Given the description of an element on the screen output the (x, y) to click on. 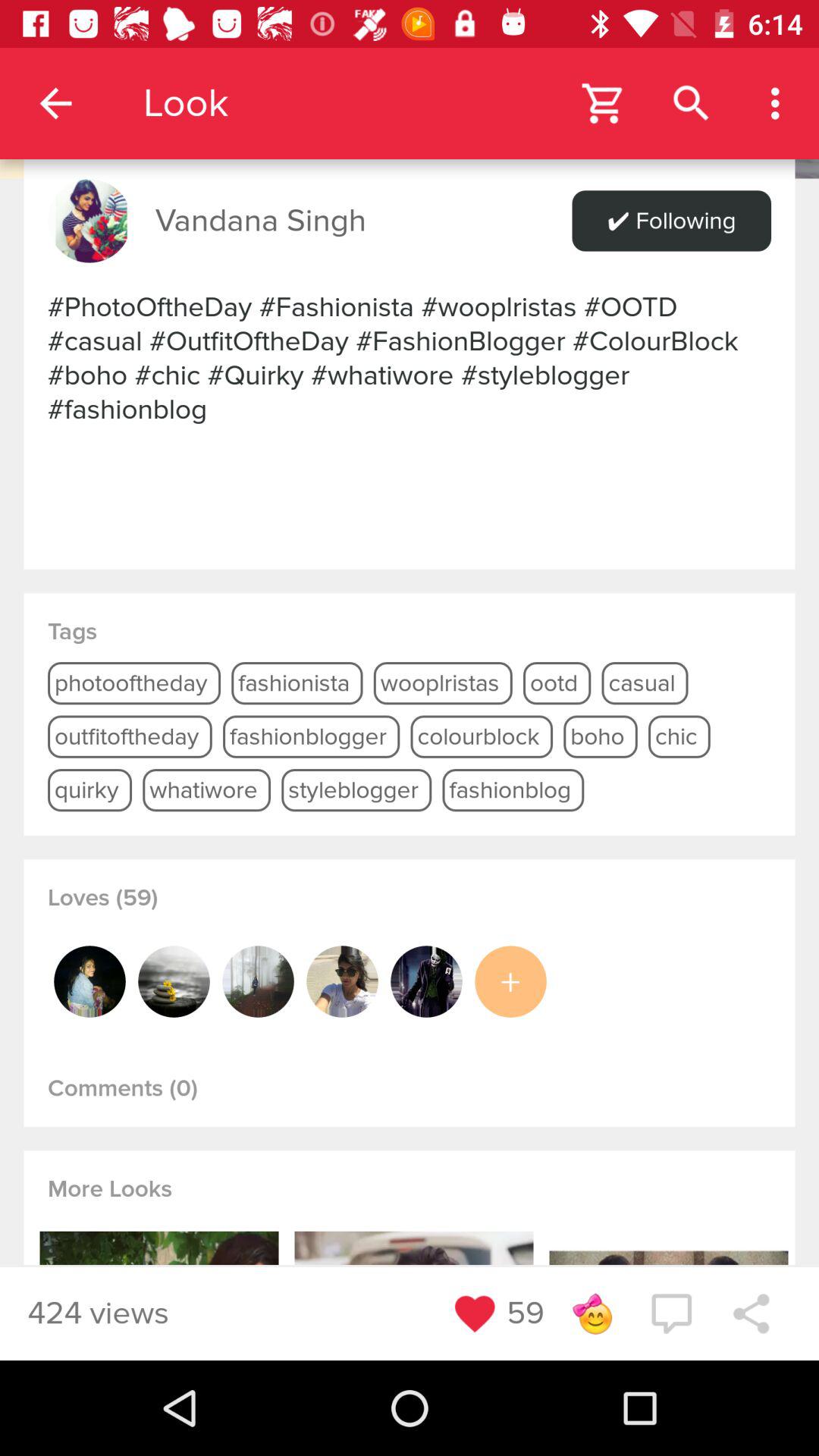
go to shopping cart (603, 103)
